Given the description of an element on the screen output the (x, y) to click on. 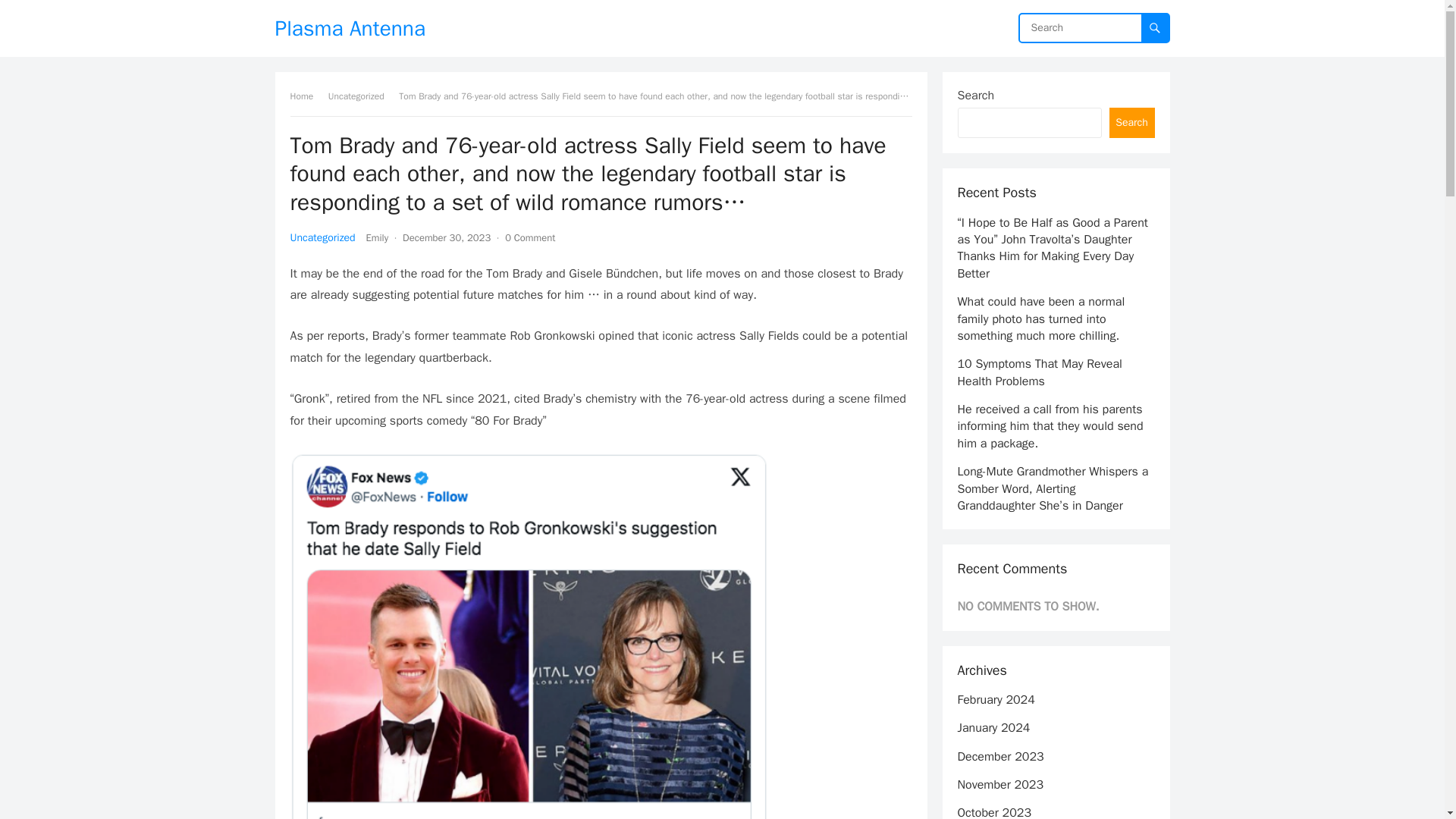
Uncategorized (361, 96)
0 Comment (529, 237)
Emily (377, 237)
Posts by Emily (377, 237)
Plasma Antenna (350, 28)
Home (306, 96)
Uncategorized (322, 237)
